Given the description of an element on the screen output the (x, y) to click on. 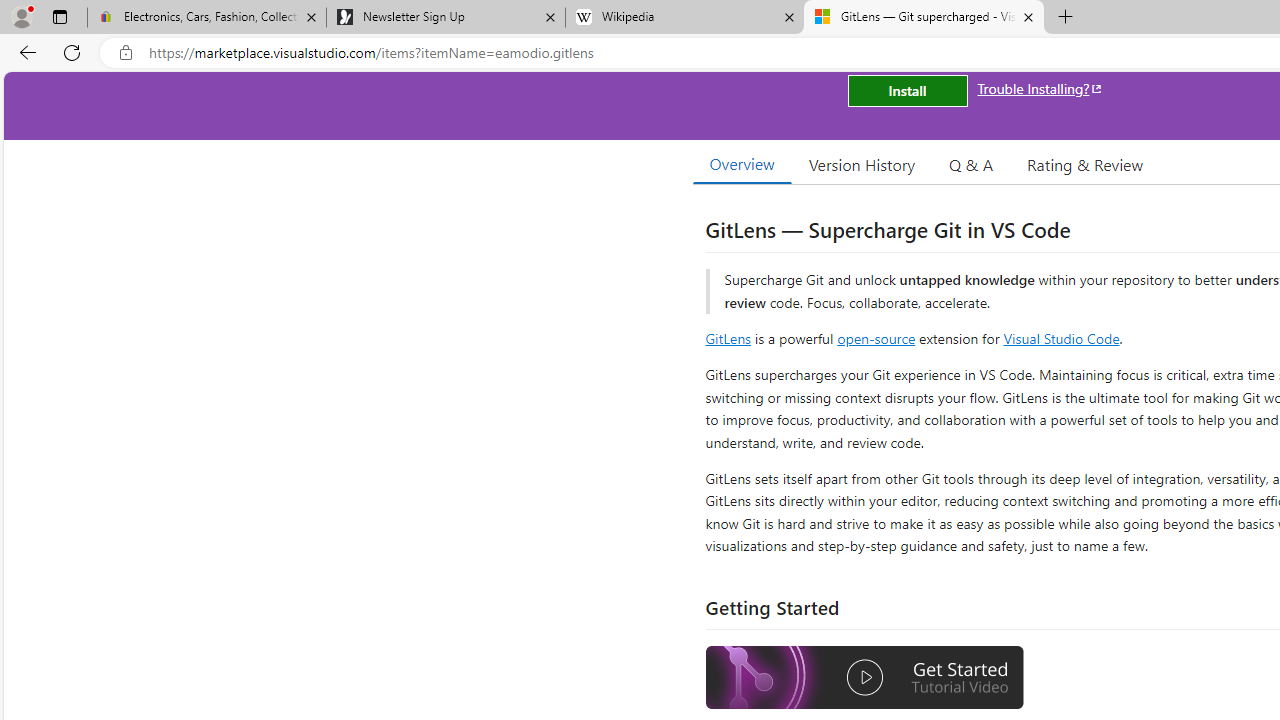
Version History (862, 164)
